Given the description of an element on the screen output the (x, y) to click on. 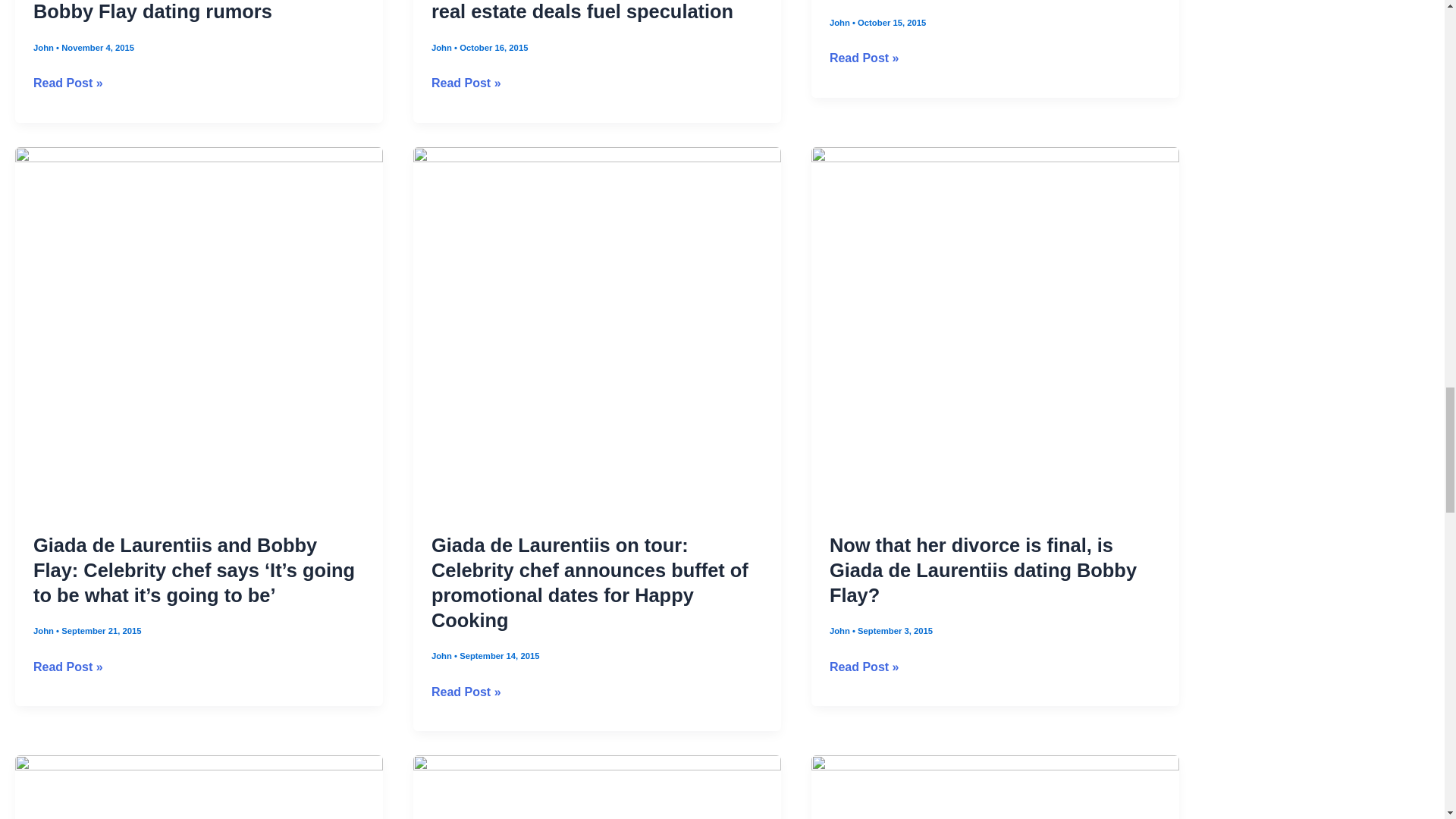
View all posts by John (840, 759)
View all posts by John (44, 759)
View all posts by John (840, 118)
View all posts by John (442, 784)
View all posts by John (44, 143)
View all posts by John (442, 143)
